Given the description of an element on the screen output the (x, y) to click on. 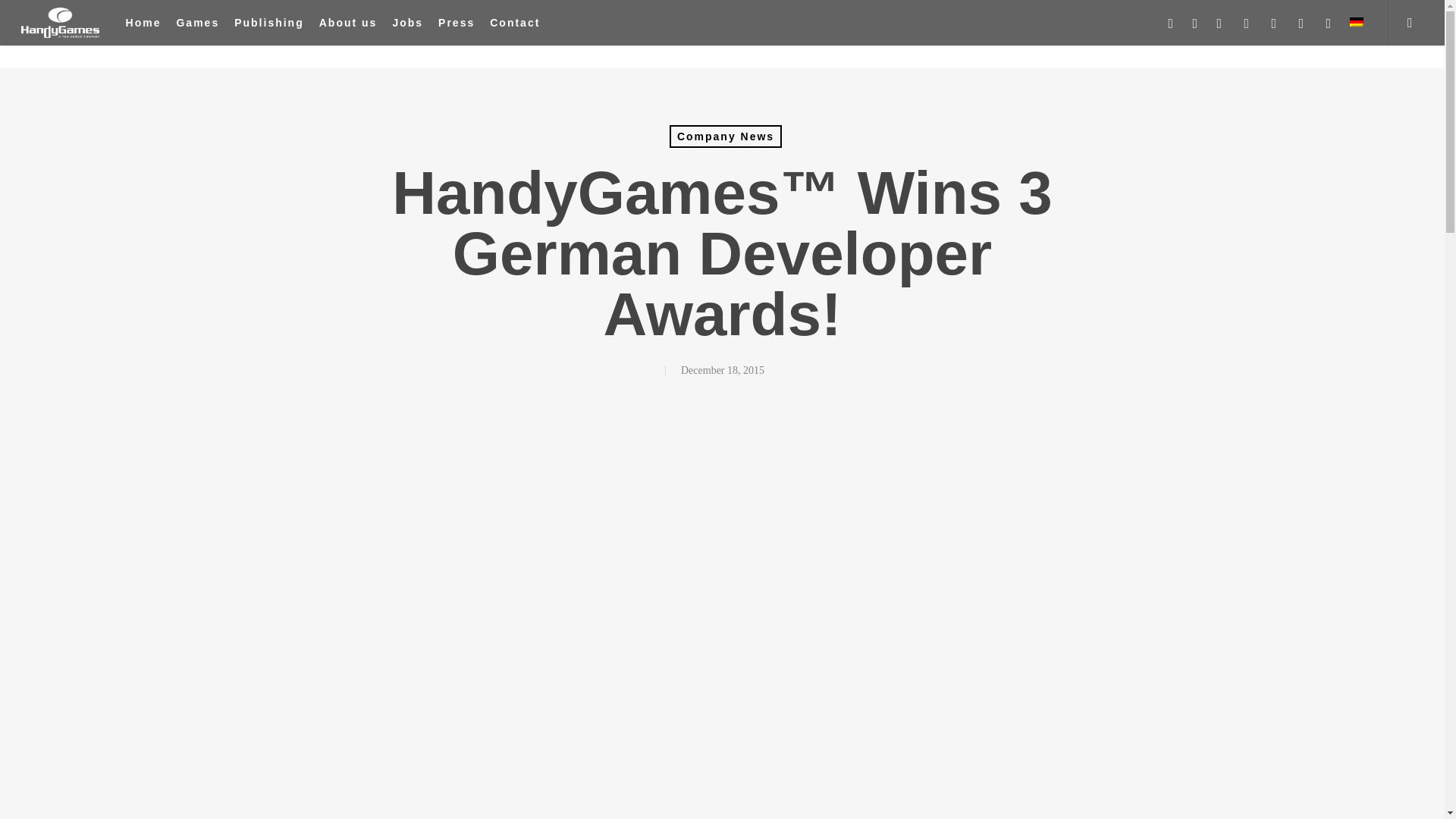
Jobs (407, 22)
facebook (1195, 22)
discord (1273, 22)
About us (347, 22)
x-twitter (1171, 22)
Press (456, 22)
twitch (1300, 22)
About us (347, 22)
youtube (1219, 22)
Company News (725, 136)
instagram (1246, 22)
Games (197, 22)
threads (1328, 22)
Contact (514, 22)
search (1415, 22)
